Given the description of an element on the screen output the (x, y) to click on. 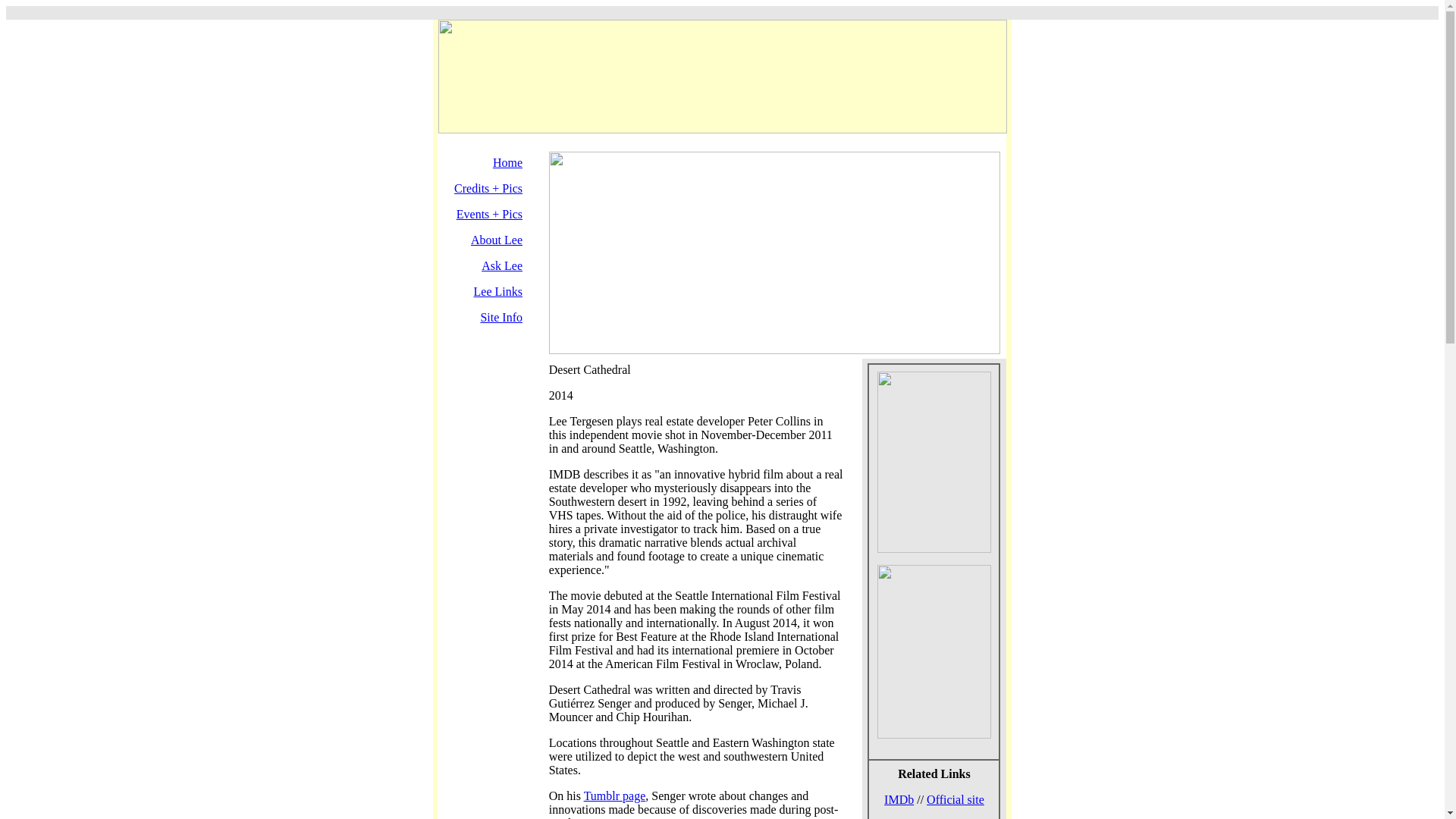
Tumblr page (614, 795)
IMDb (898, 799)
Lee Links (498, 291)
Home (507, 162)
Site Info (501, 317)
Ask Lee (501, 265)
About Lee (496, 239)
Official site (955, 799)
